Given the description of an element on the screen output the (x, y) to click on. 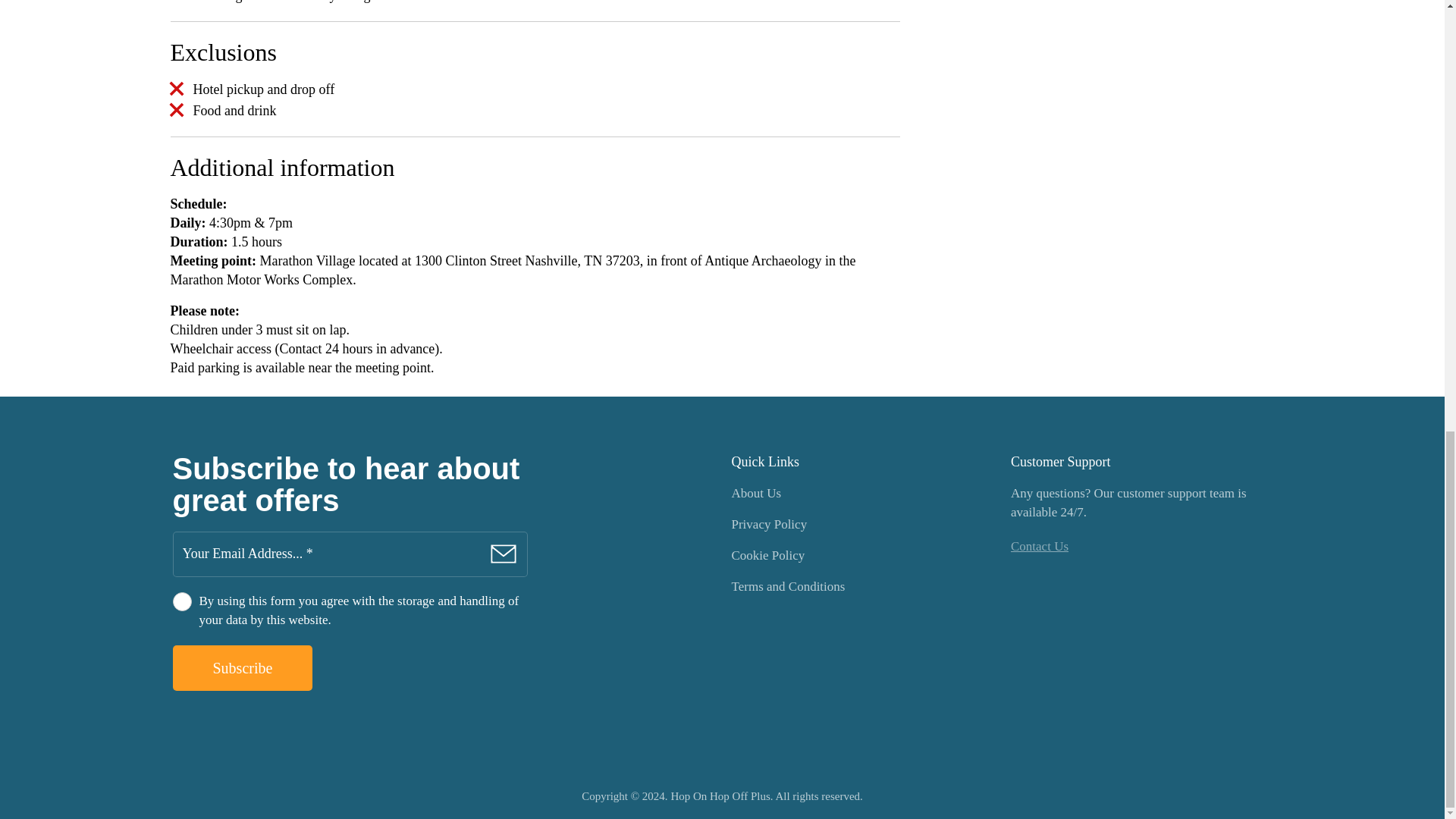
Your Email Address... (350, 554)
Subscribe (243, 668)
Hop On Hop Off Plus (721, 796)
